Given the description of an element on the screen output the (x, y) to click on. 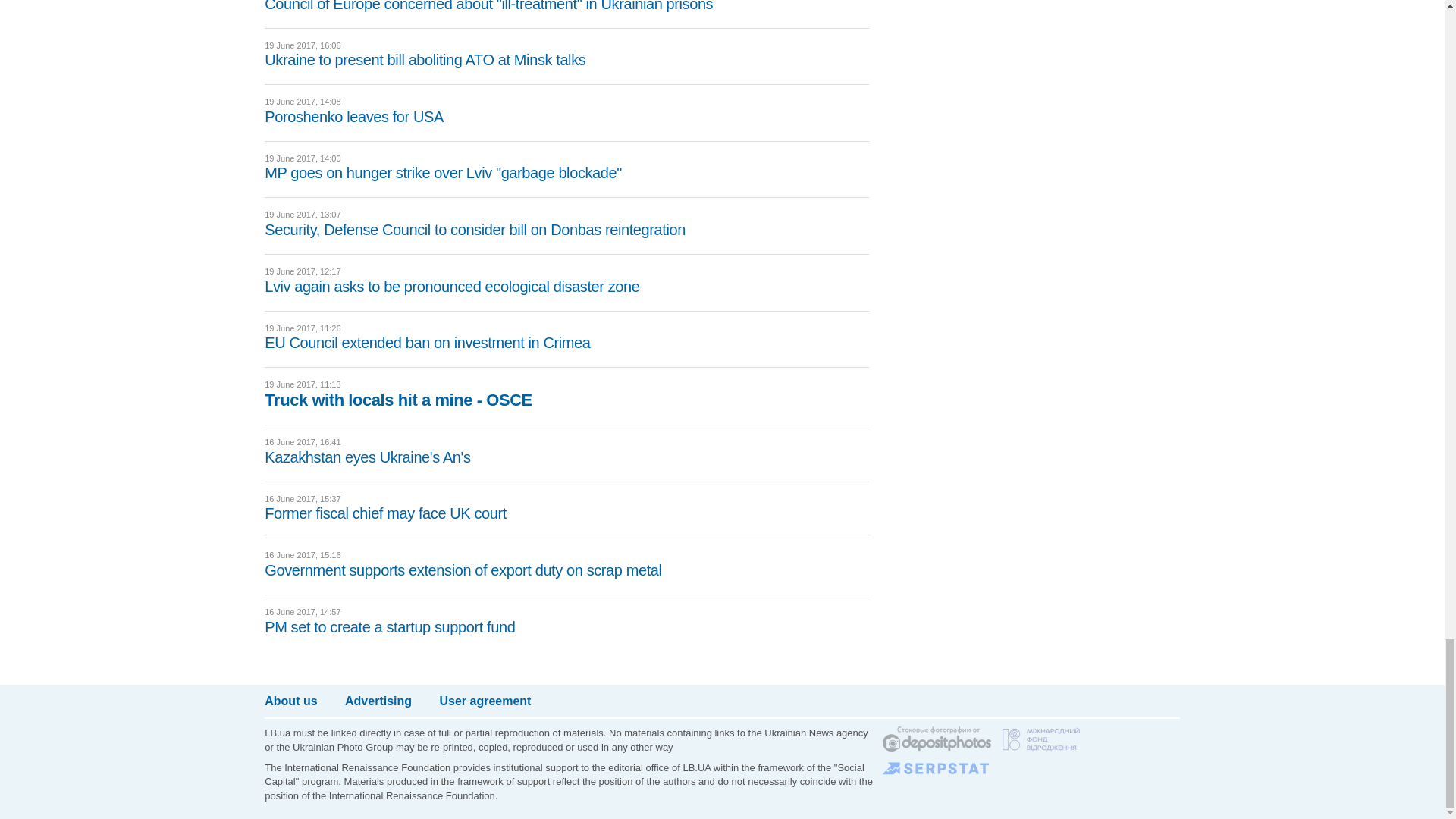
EU Council extended ban on investment in Crimea (426, 342)
MP goes on hunger strike over Lviv "garbage blockade" (442, 172)
Ukraine to present bill aboliting ATO at Minsk talks (424, 59)
Poroshenko leaves for USA (354, 116)
Lviv again asks to be pronounced ecological disaster zone (451, 286)
